Given the description of an element on the screen output the (x, y) to click on. 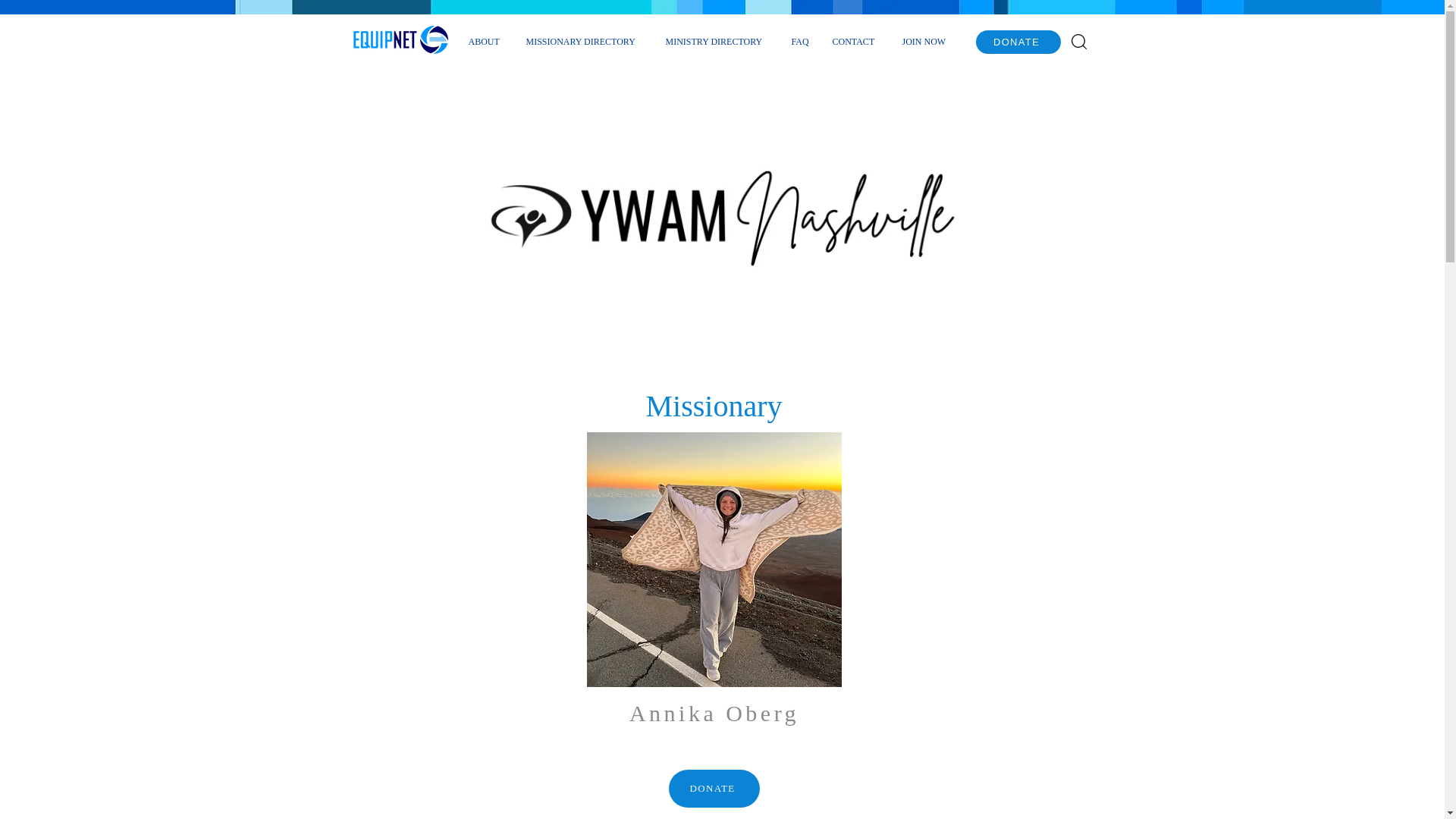
MINISTRY DIRECTORY (715, 41)
JOIN NOW (925, 41)
DONATE (1017, 42)
CONTACT (855, 41)
FAQ (799, 41)
DONATE (714, 788)
ABOUT (485, 41)
MISSIONARY DIRECTORY (583, 41)
Annika Oberg (713, 559)
